Given the description of an element on the screen output the (x, y) to click on. 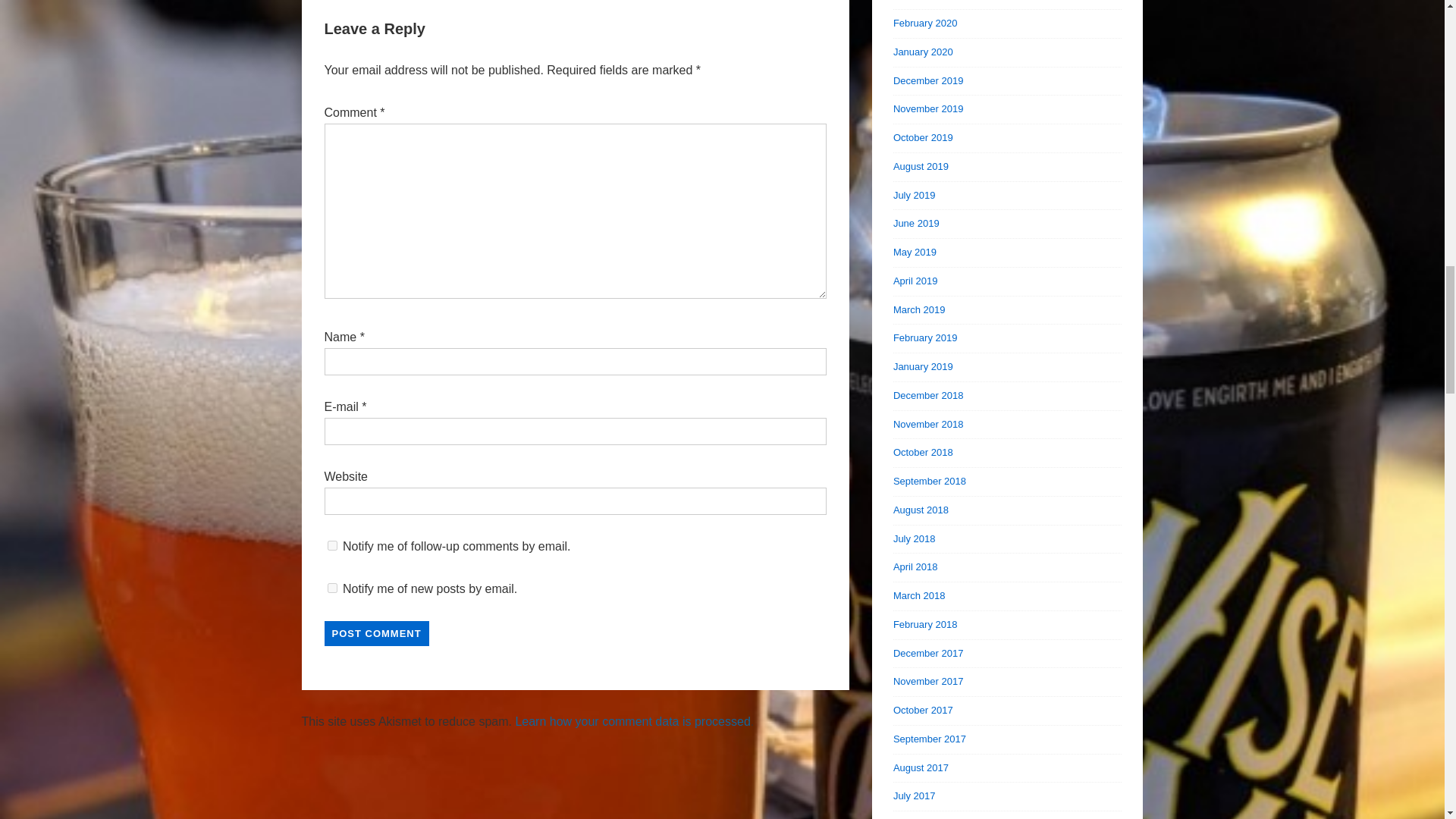
subscribe (332, 545)
subscribe (332, 587)
Post Comment (376, 633)
